Given the description of an element on the screen output the (x, y) to click on. 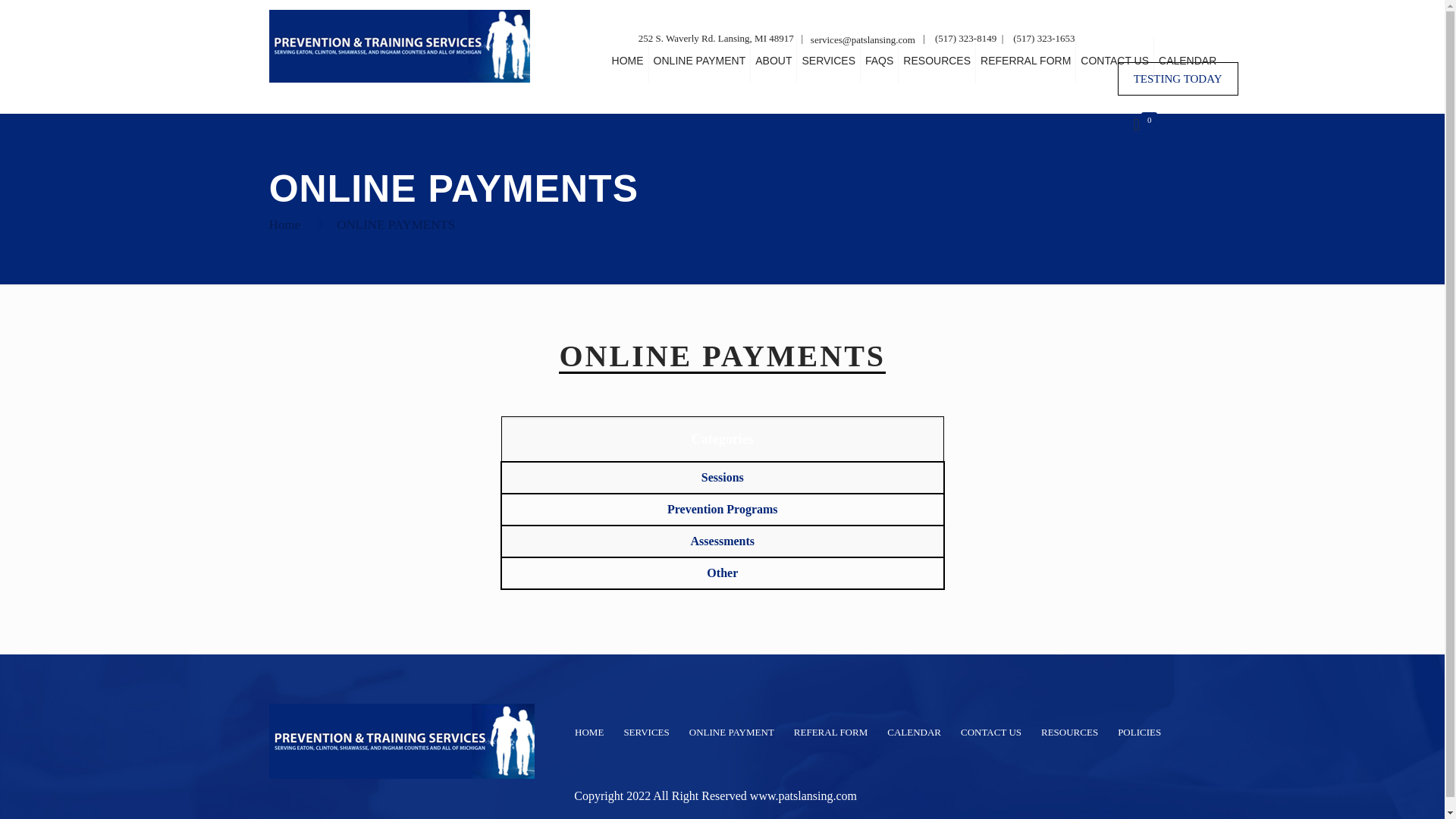
REFERRAL FORM (1025, 60)
SERVICES (828, 60)
RESOURCES (936, 60)
ONLINE PAYMENT (700, 60)
Home (285, 224)
patslansing (399, 45)
CONTACT US (1114, 60)
0 (1144, 126)
TESTING TODAY (1178, 78)
CALENDAR (1187, 60)
Sessions (721, 477)
